Given the description of an element on the screen output the (x, y) to click on. 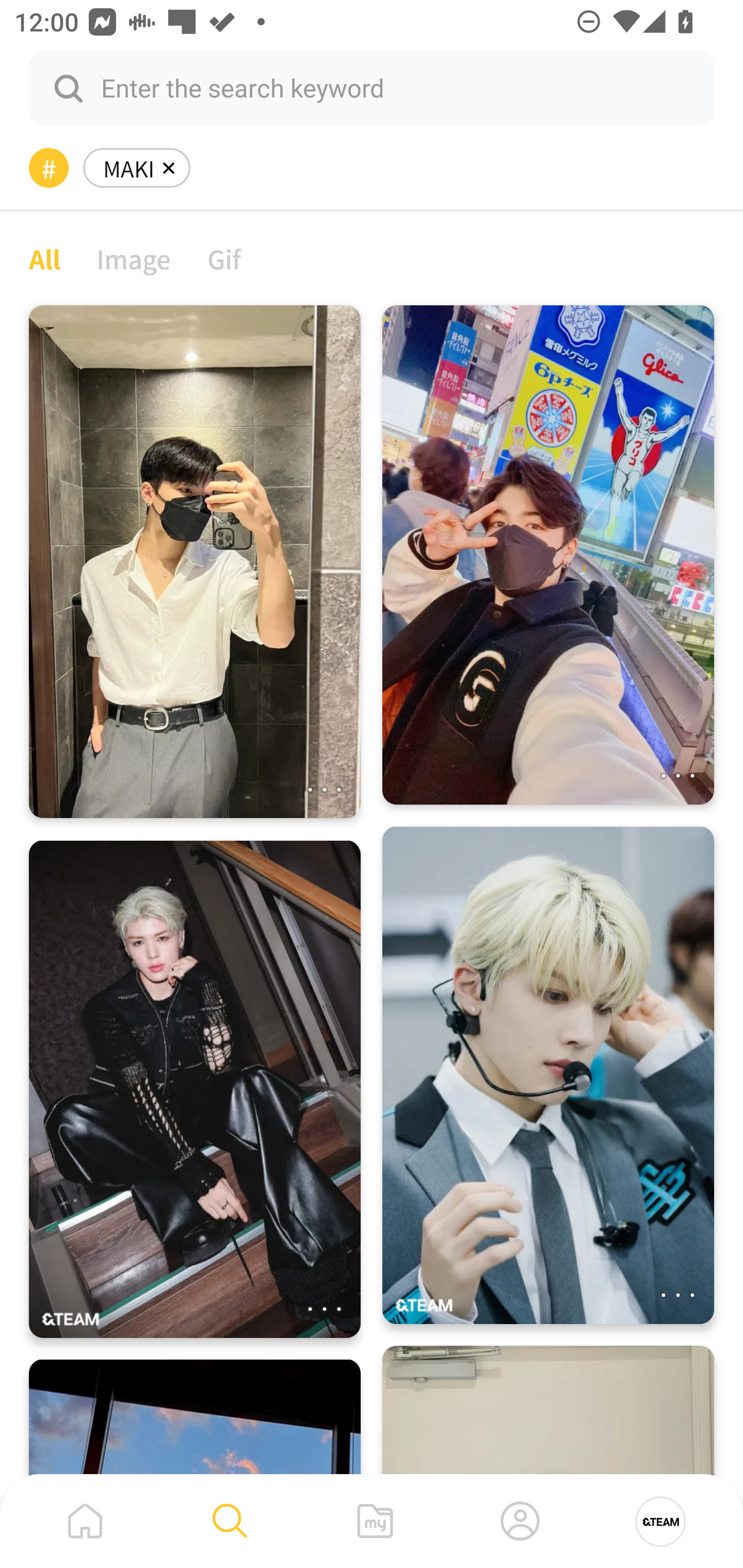
All (44, 257)
Image (133, 257)
Gif (223, 257)
